Given the description of an element on the screen output the (x, y) to click on. 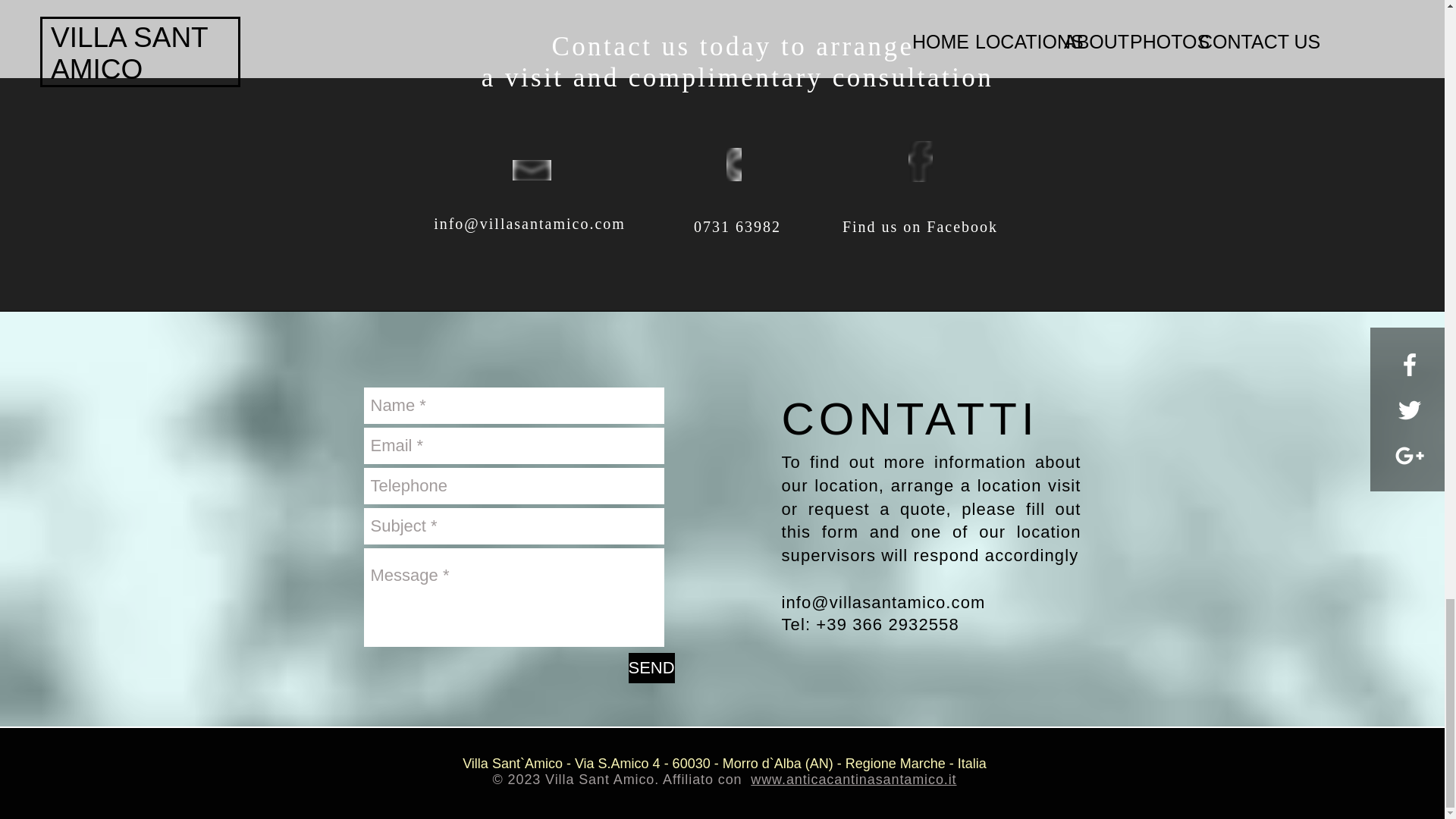
www.anticacantinasantamico.it (853, 779)
SEND (650, 667)
mail.png (531, 169)
